Given the description of an element on the screen output the (x, y) to click on. 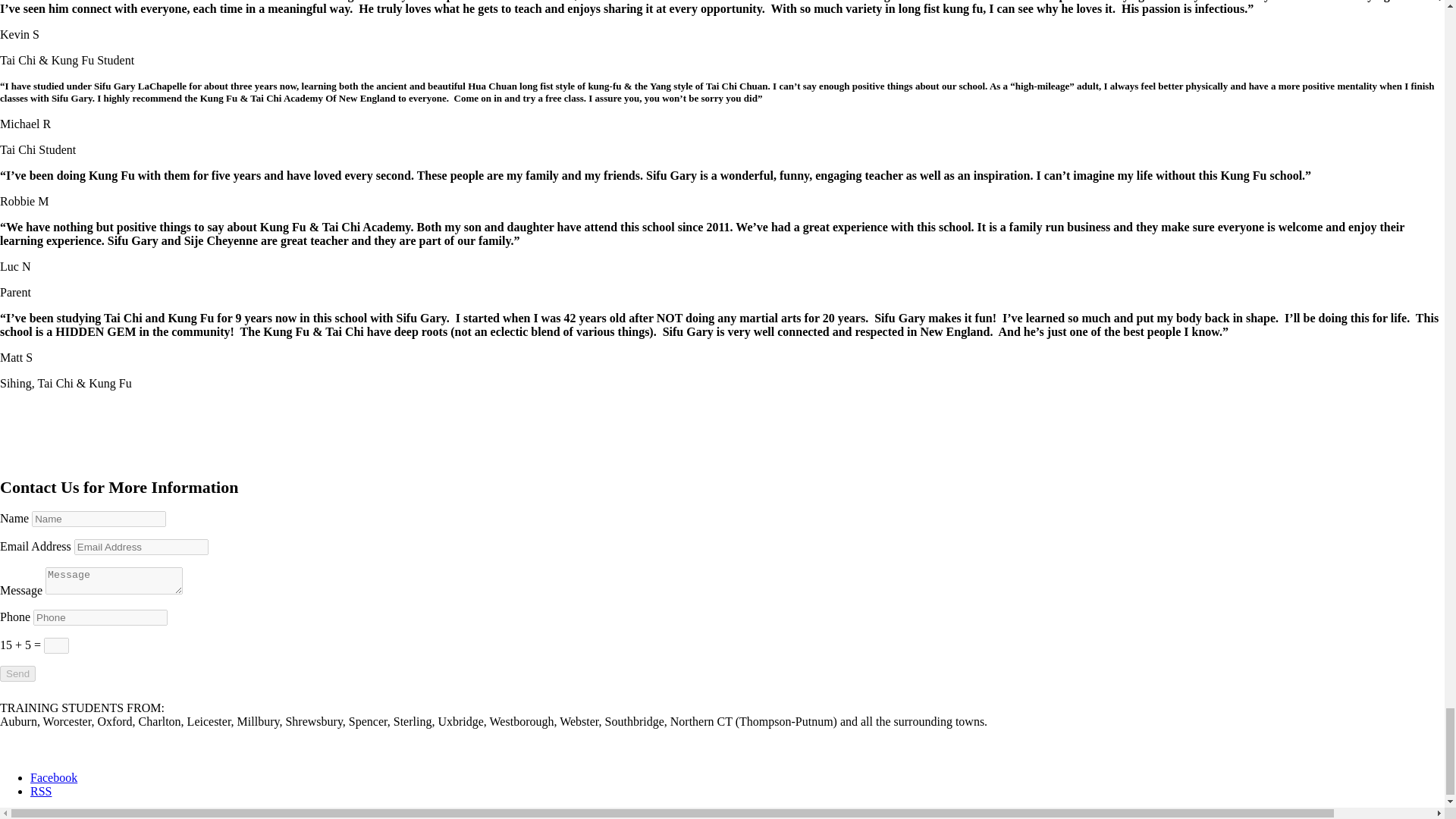
RSS (40, 790)
Send (17, 673)
Facebook (53, 777)
